Given the description of an element on the screen output the (x, y) to click on. 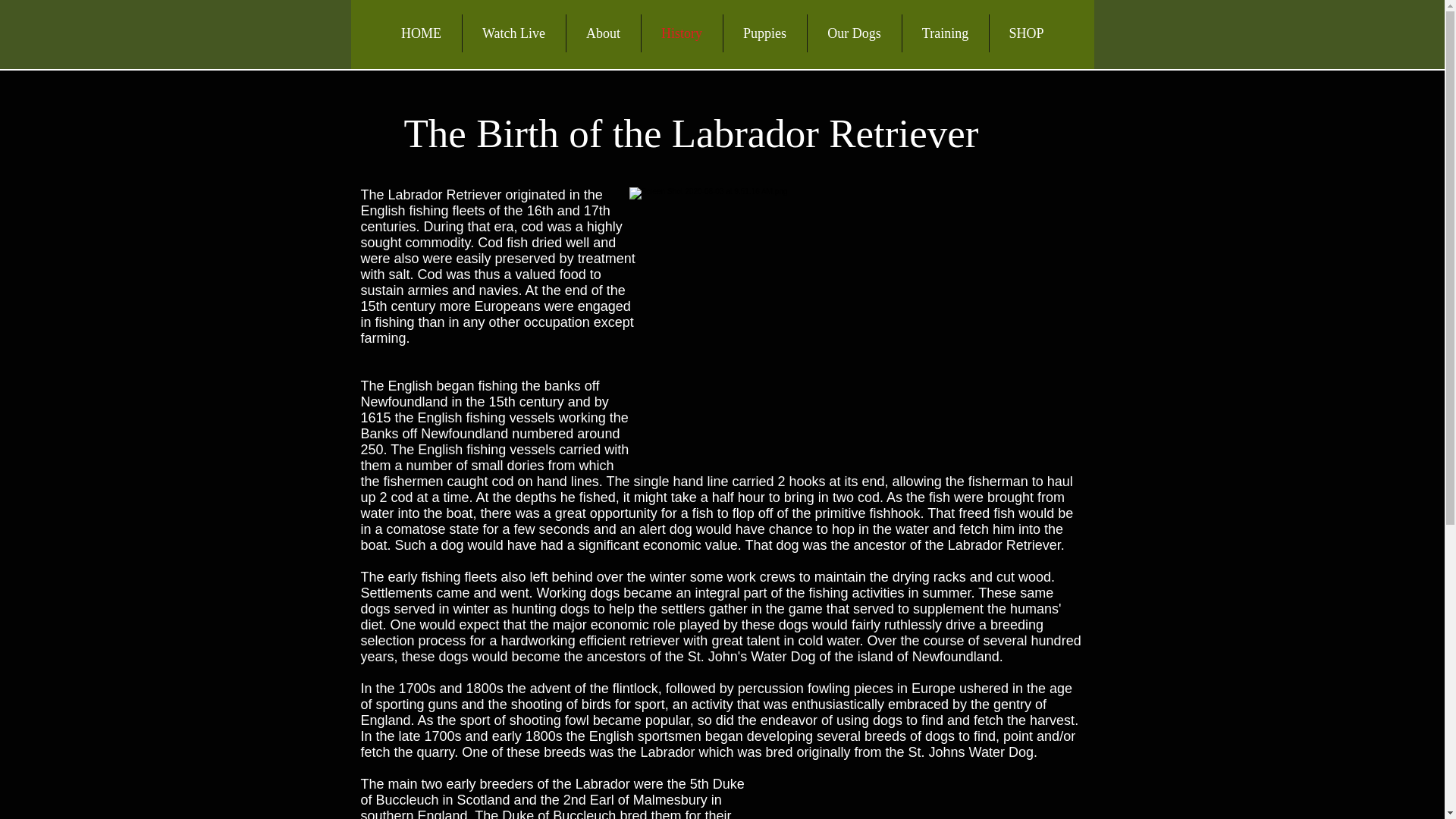
HOME (420, 33)
History (682, 33)
About (603, 33)
SHOP (1025, 33)
Our Dogs (853, 33)
Watch Live (514, 33)
Puppies (764, 33)
